Given the description of an element on the screen output the (x, y) to click on. 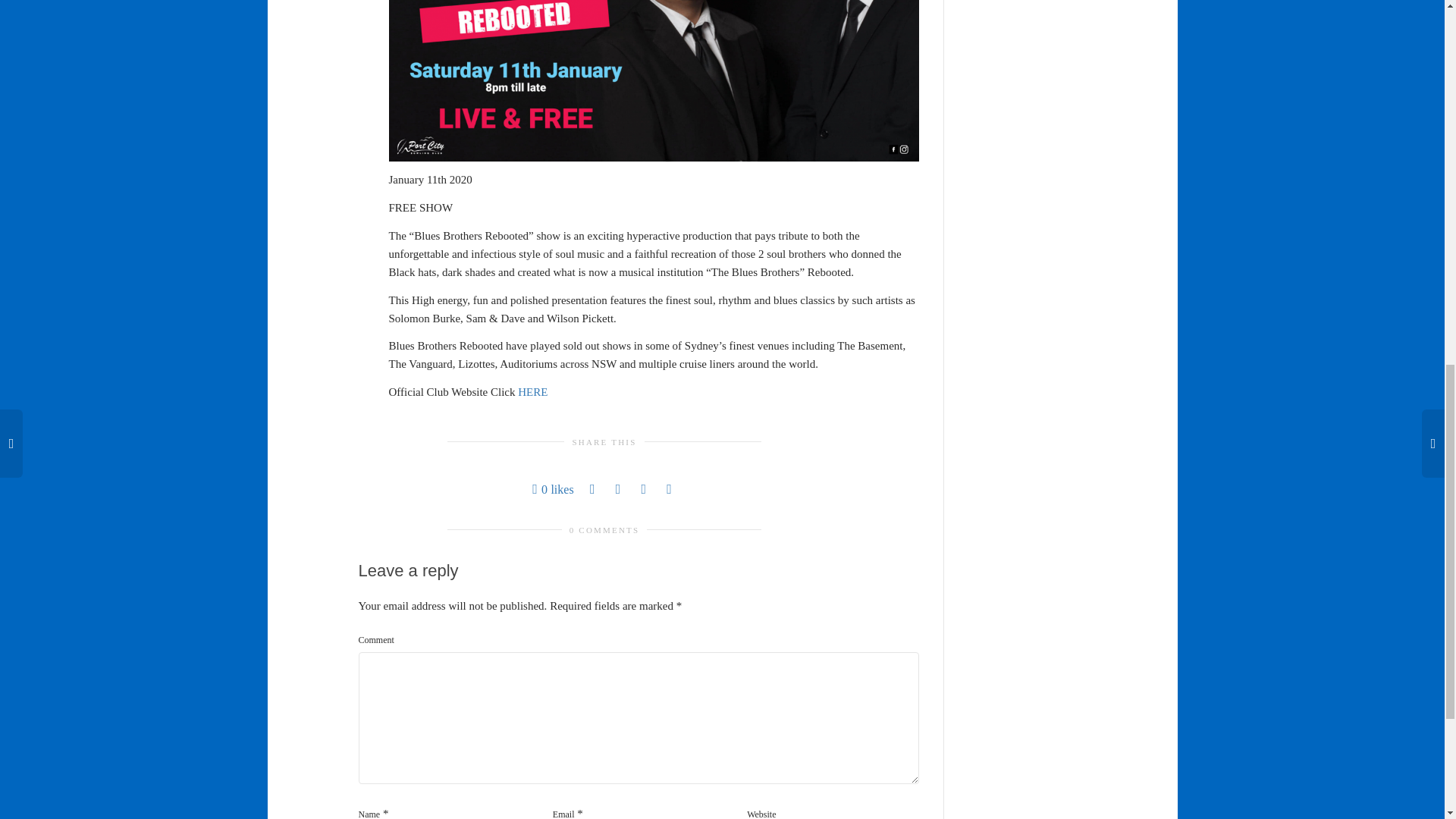
0 likes (552, 488)
Like this (552, 488)
HERE (532, 391)
